Given the description of an element on the screen output the (x, y) to click on. 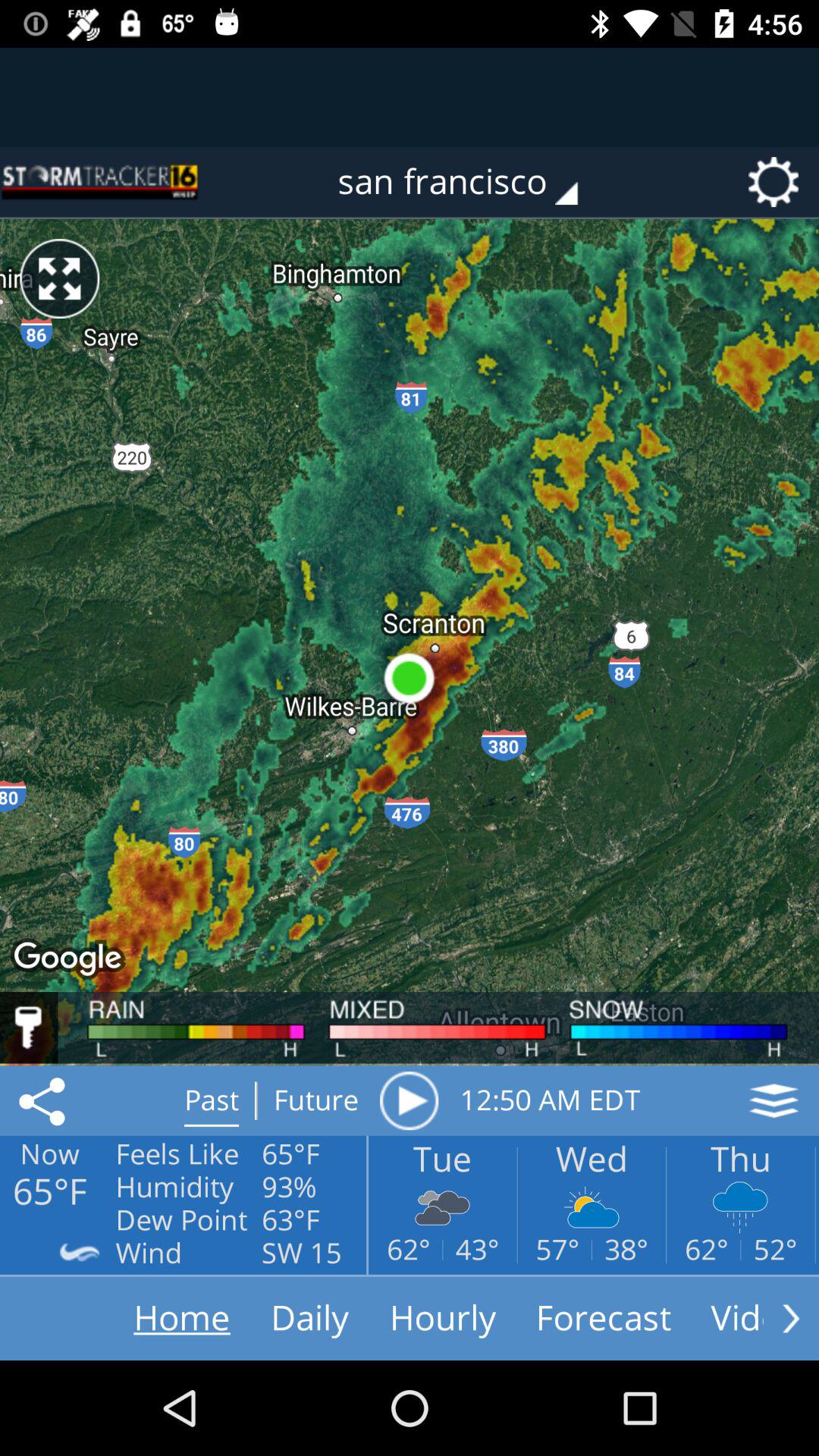
turn off the item next to the 12 50 am item (409, 1100)
